Given the description of an element on the screen output the (x, y) to click on. 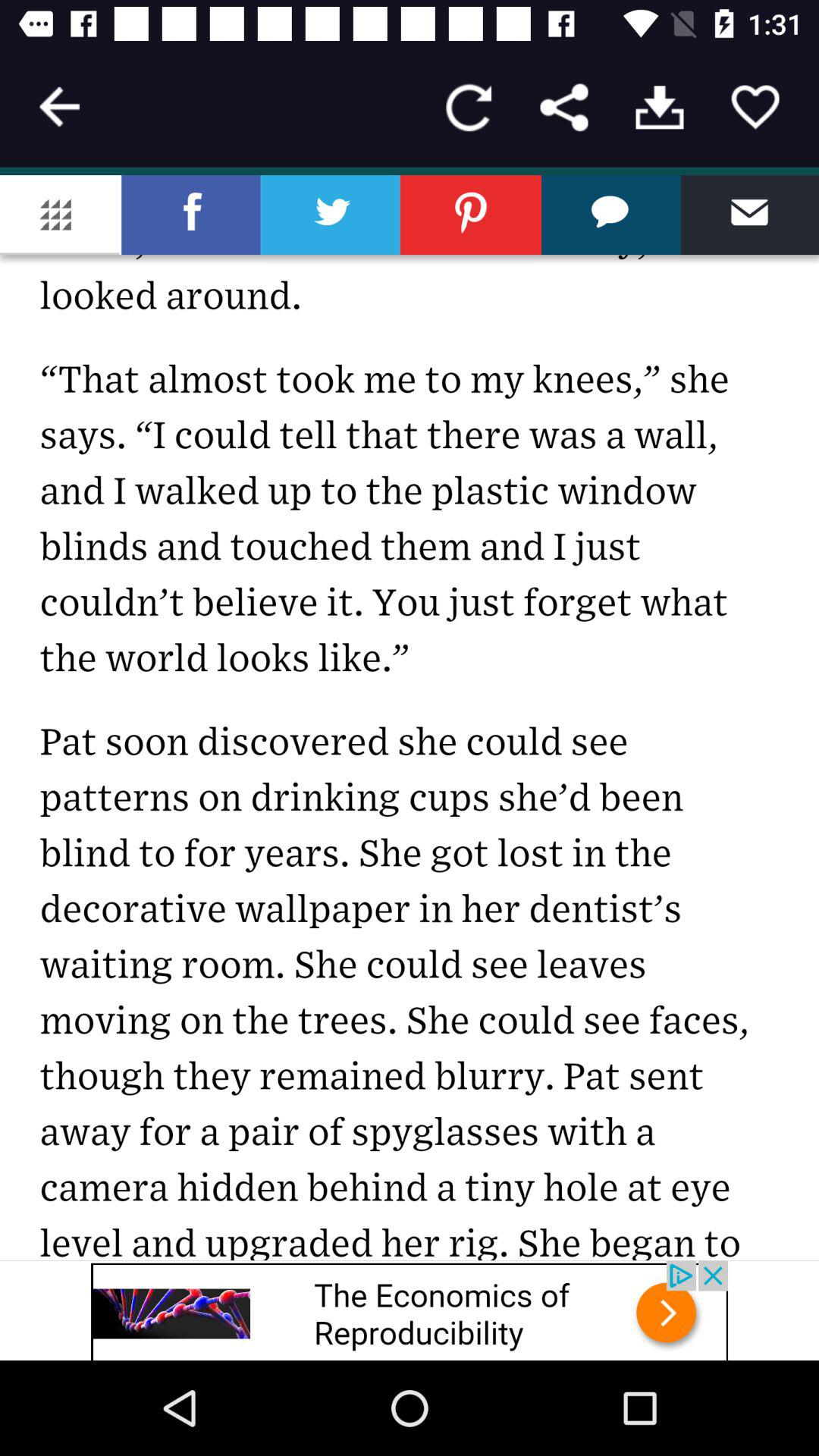
open (659, 107)
